Given the description of an element on the screen output the (x, y) to click on. 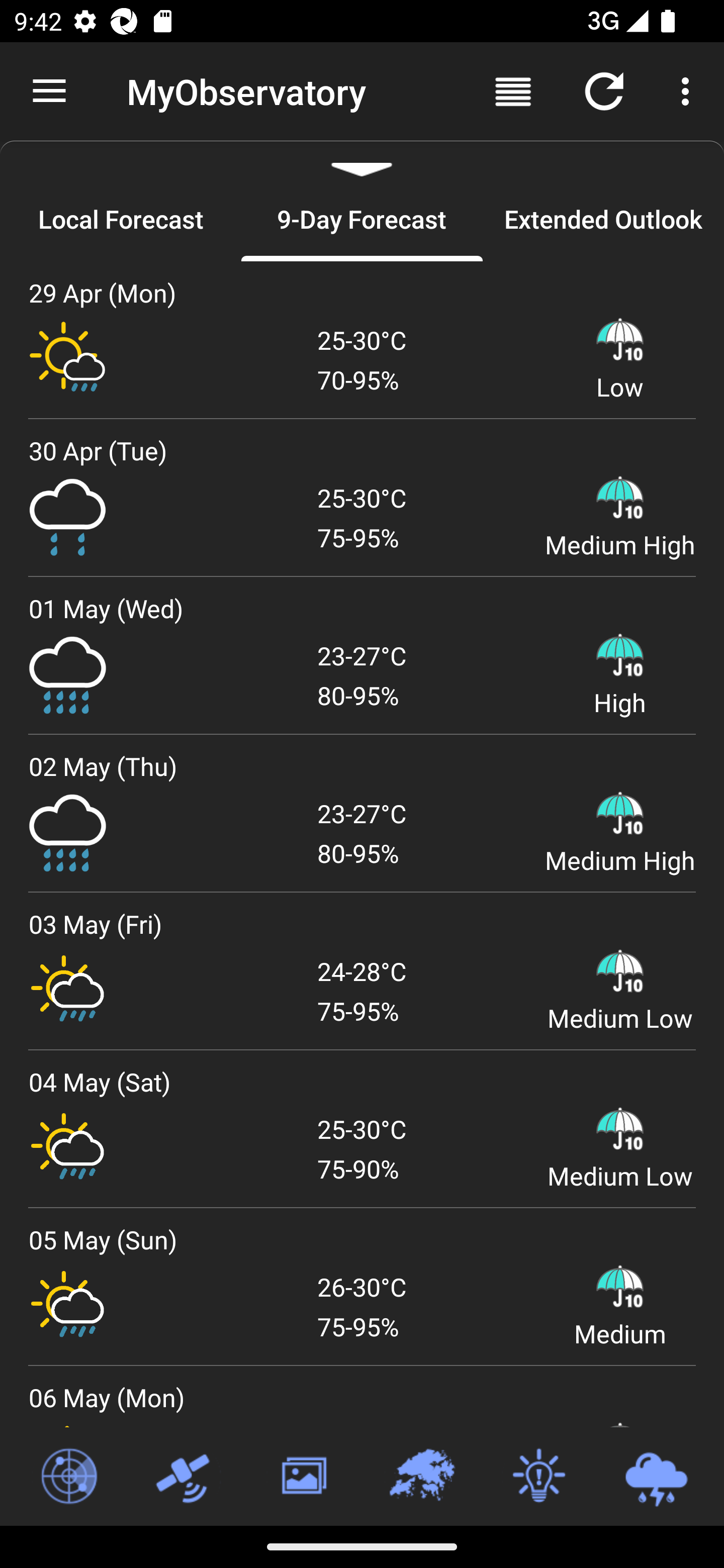
Navigate up (49, 91)
Vertical layout (512, 90)
Refresh (604, 90)
More options (688, 90)
Collapse (362, 159)
Local Forecast (120, 219)
Extended Outlook (603, 219)
Radar Images (68, 1476)
Satellite Images (185, 1476)
Weather Photos (302, 1476)
Regional Weather (420, 1476)
Weather Tips (537, 1476)
Loc-based Rain & Lightning Forecast (655, 1476)
